Given the description of an element on the screen output the (x, y) to click on. 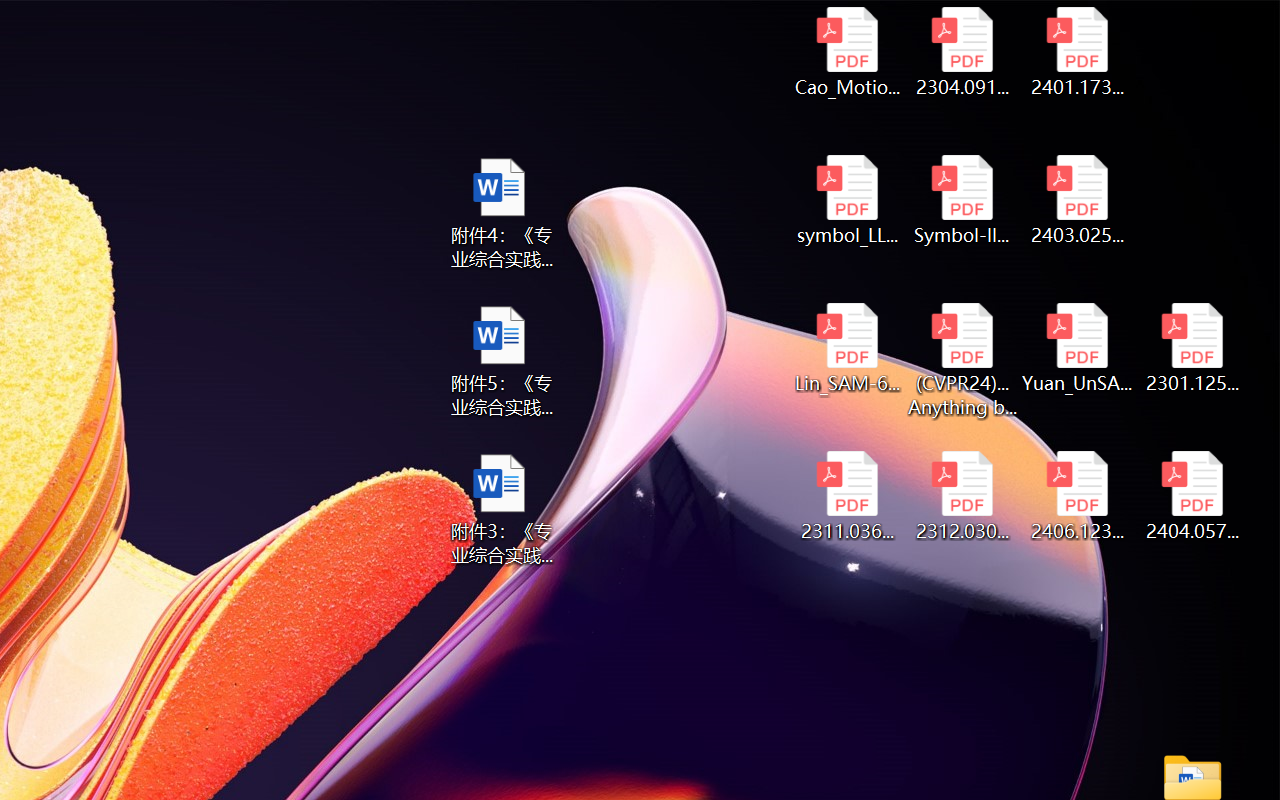
2406.12373v2.pdf (1077, 496)
